Given the description of an element on the screen output the (x, y) to click on. 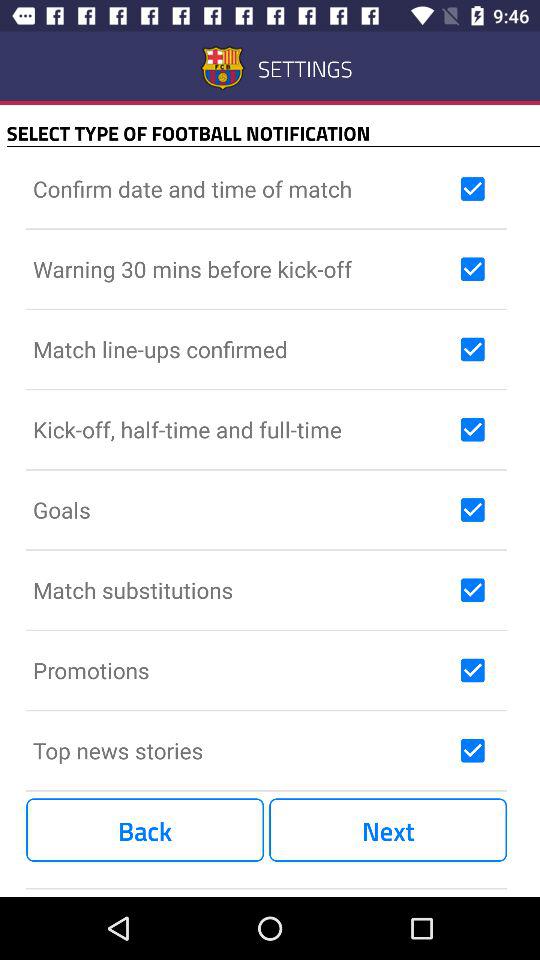
select type of football notification (472, 429)
